Given the description of an element on the screen output the (x, y) to click on. 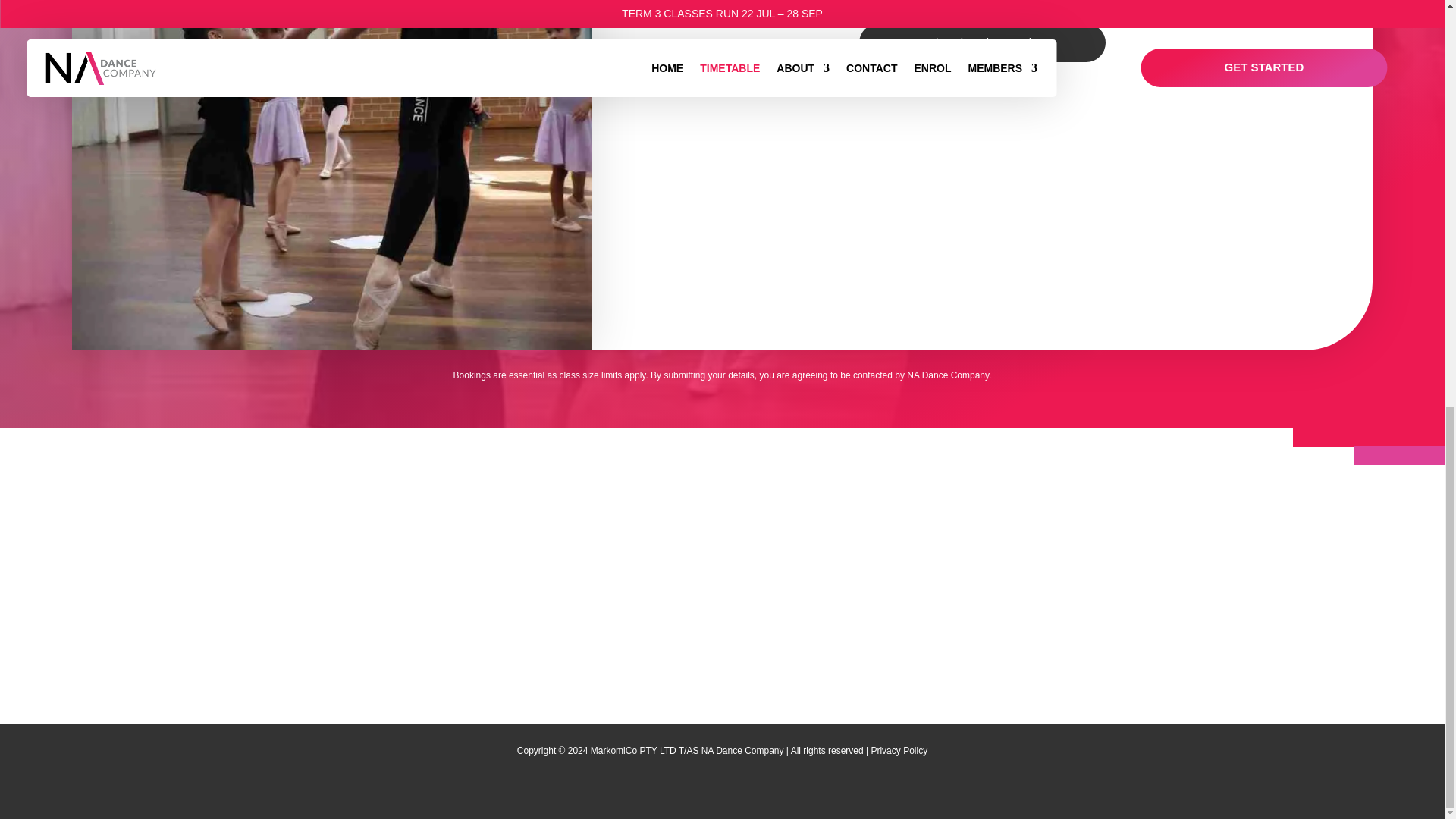
Privacy Policy (898, 750)
